Given the description of an element on the screen output the (x, y) to click on. 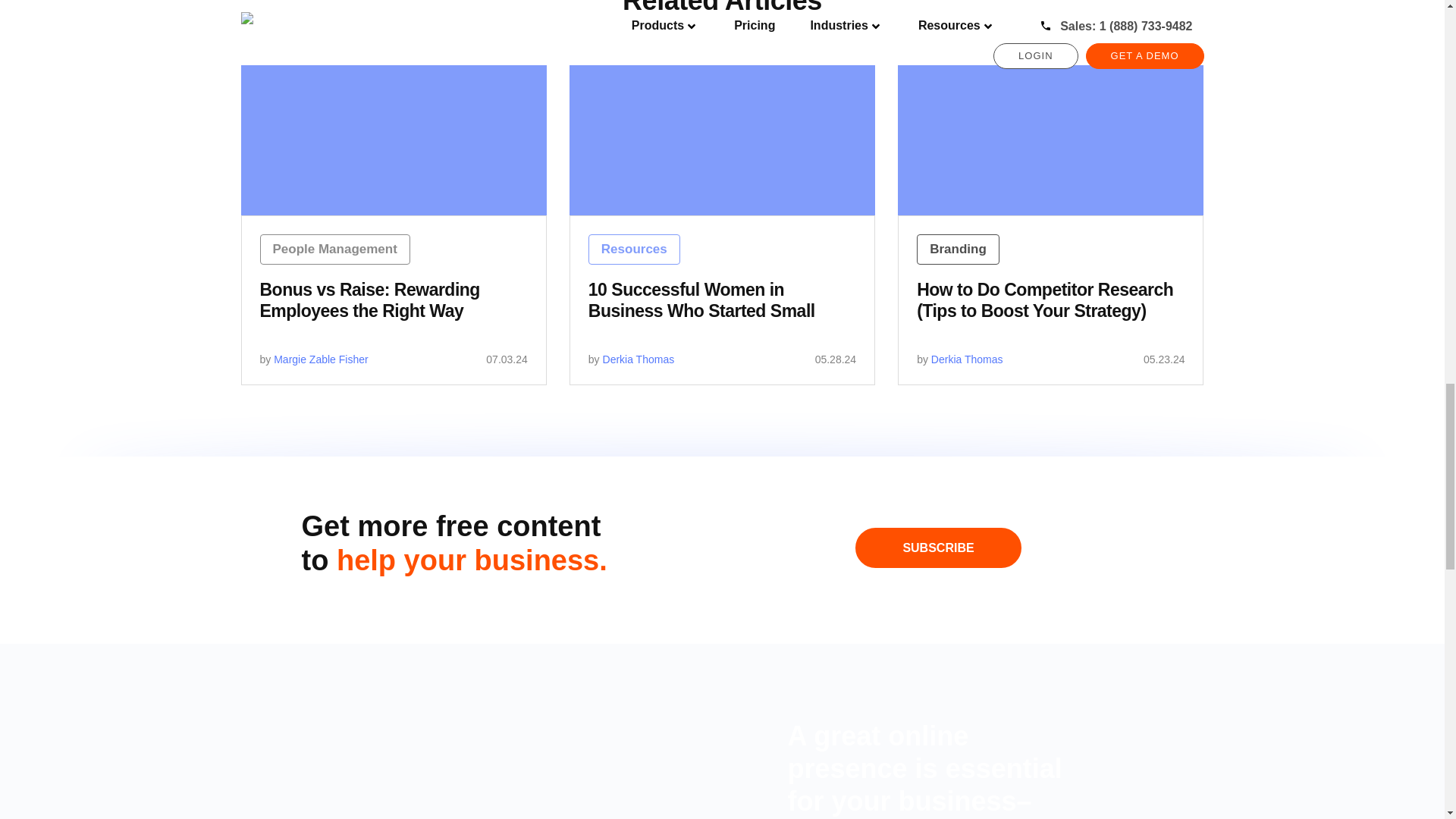
Posts by Derkia Thomas (967, 358)
Posts by Margie Zable Fisher (320, 358)
Posts by Derkia Thomas (638, 358)
